Given the description of an element on the screen output the (x, y) to click on. 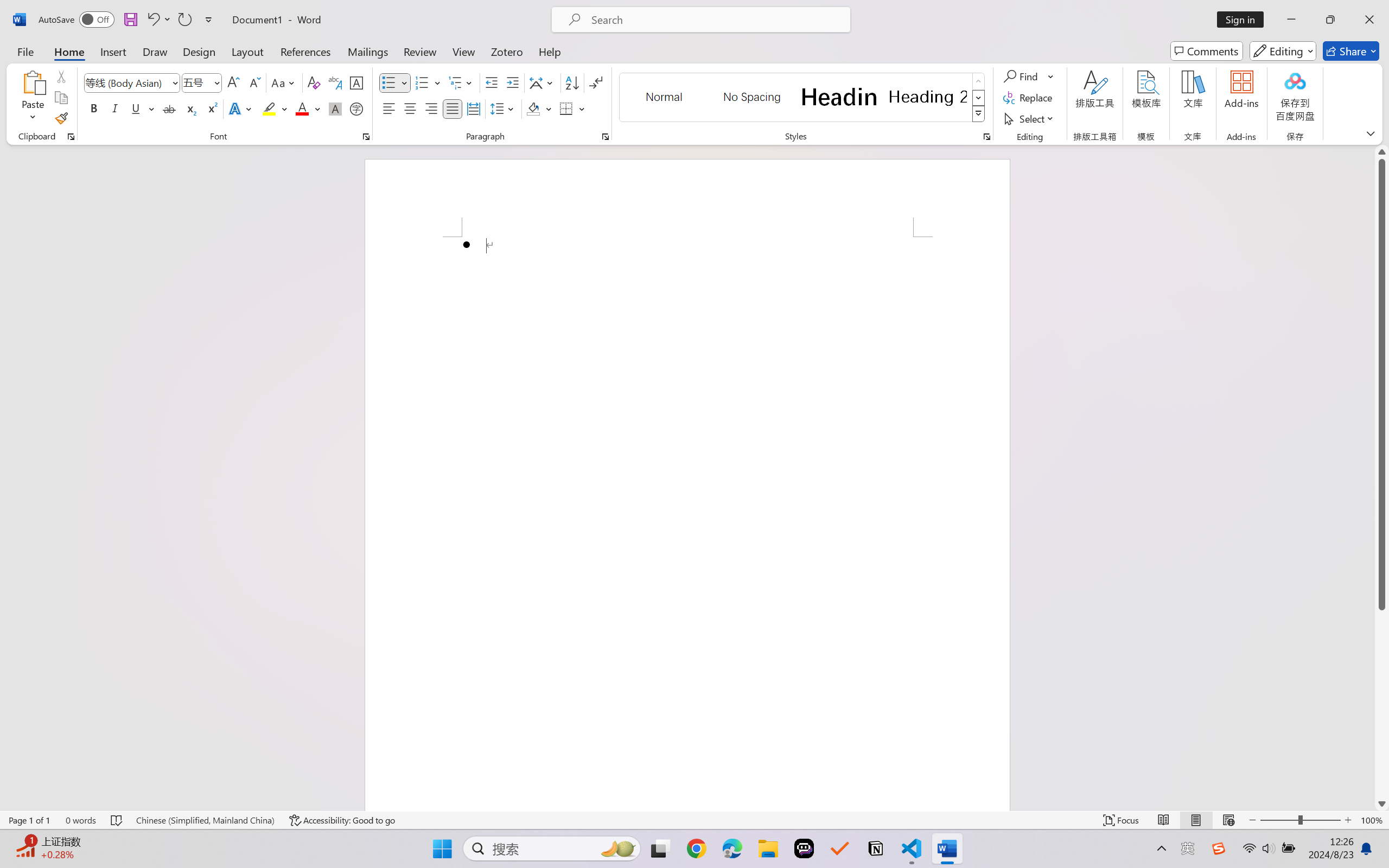
Undo Bullet Default (158, 19)
Page down (1382, 703)
Sign in (1244, 19)
